Given the description of an element on the screen output the (x, y) to click on. 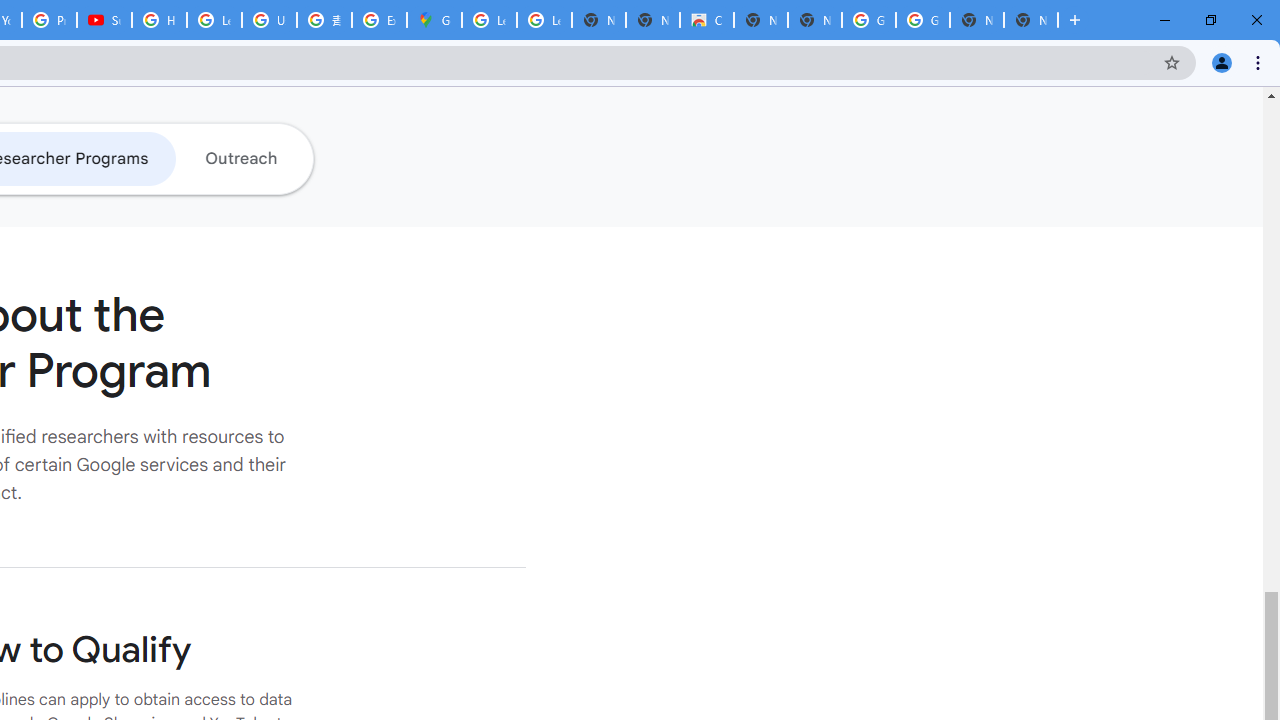
How Chrome protects your passwords - Google Chrome Help (158, 20)
Explore new street-level details - Google Maps Help (379, 20)
Chrome Web Store (706, 20)
Outreach (240, 158)
